Given the description of an element on the screen output the (x, y) to click on. 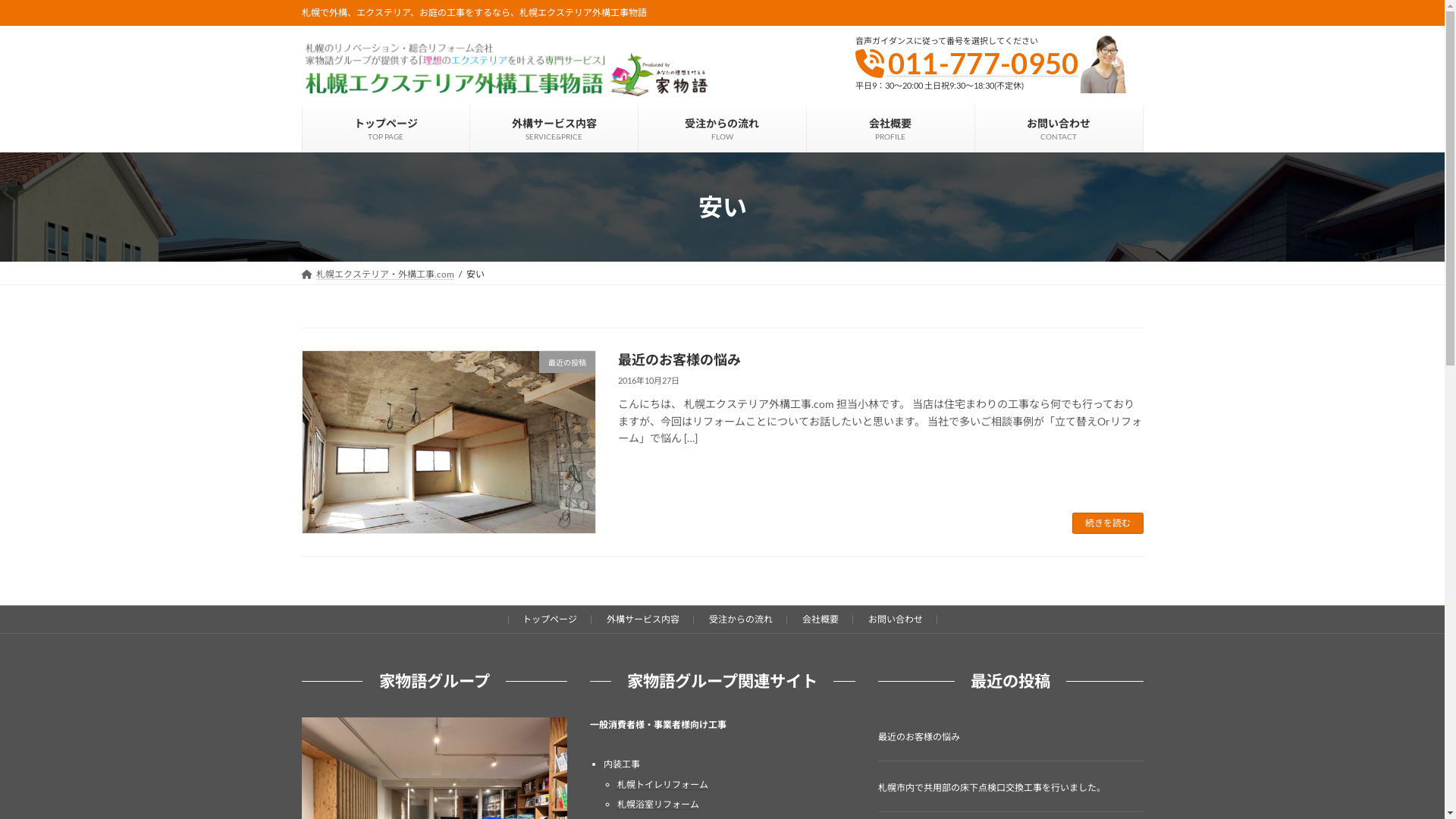
011-777-0950 Element type: text (983, 62)
